Given the description of an element on the screen output the (x, y) to click on. 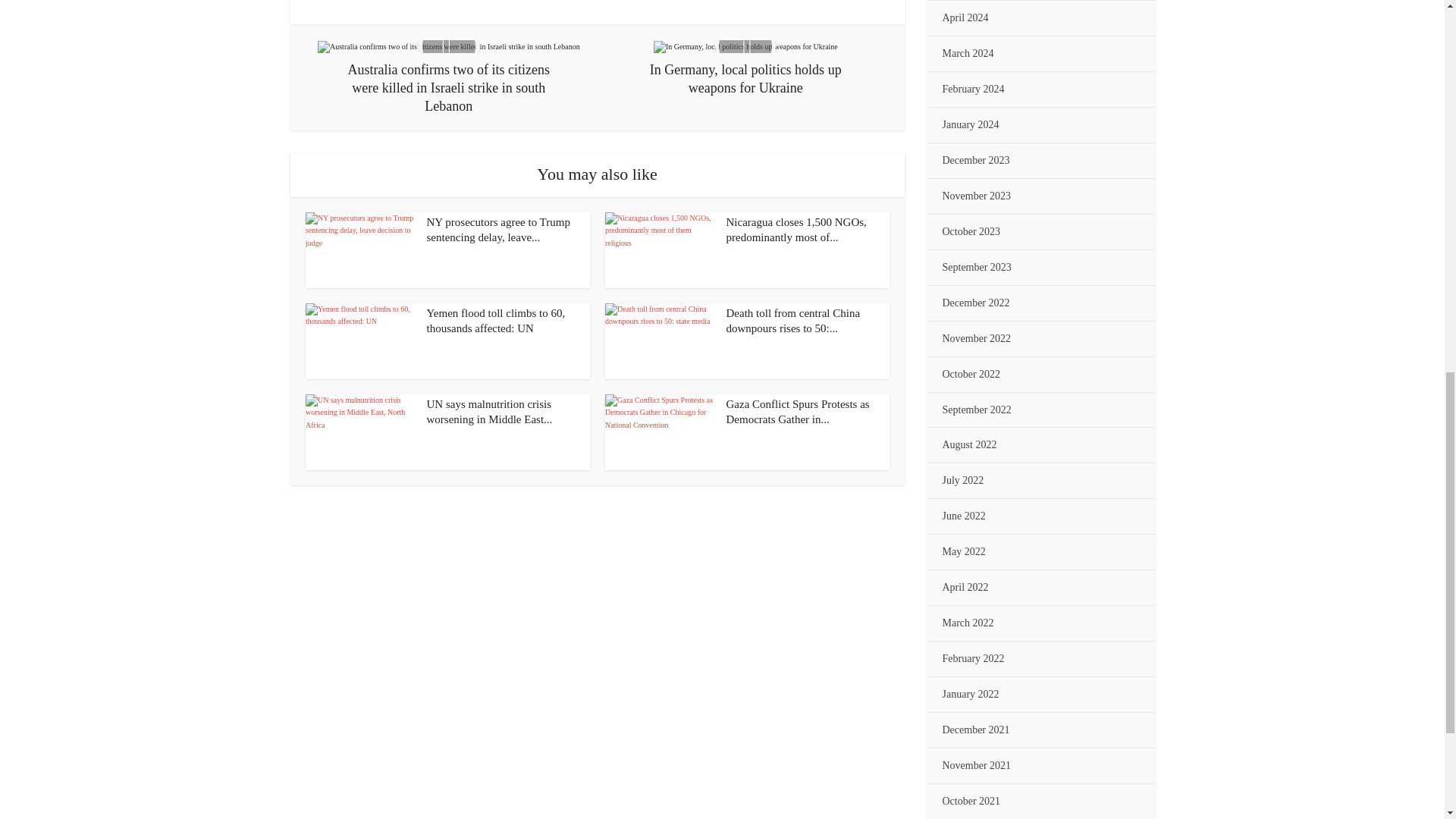
In Germany, local politics holds up weapons for Ukraine (745, 46)
NY prosecutors agree to Trump sentencing delay, leave... (497, 229)
Yemen flood toll climbs to 60, thousands affected: UN (495, 320)
In Germany, local politics holds up weapons for Ukraine (745, 68)
Yemen flood toll climbs to 60, thousands affected: UN (359, 341)
